Given the description of an element on the screen output the (x, y) to click on. 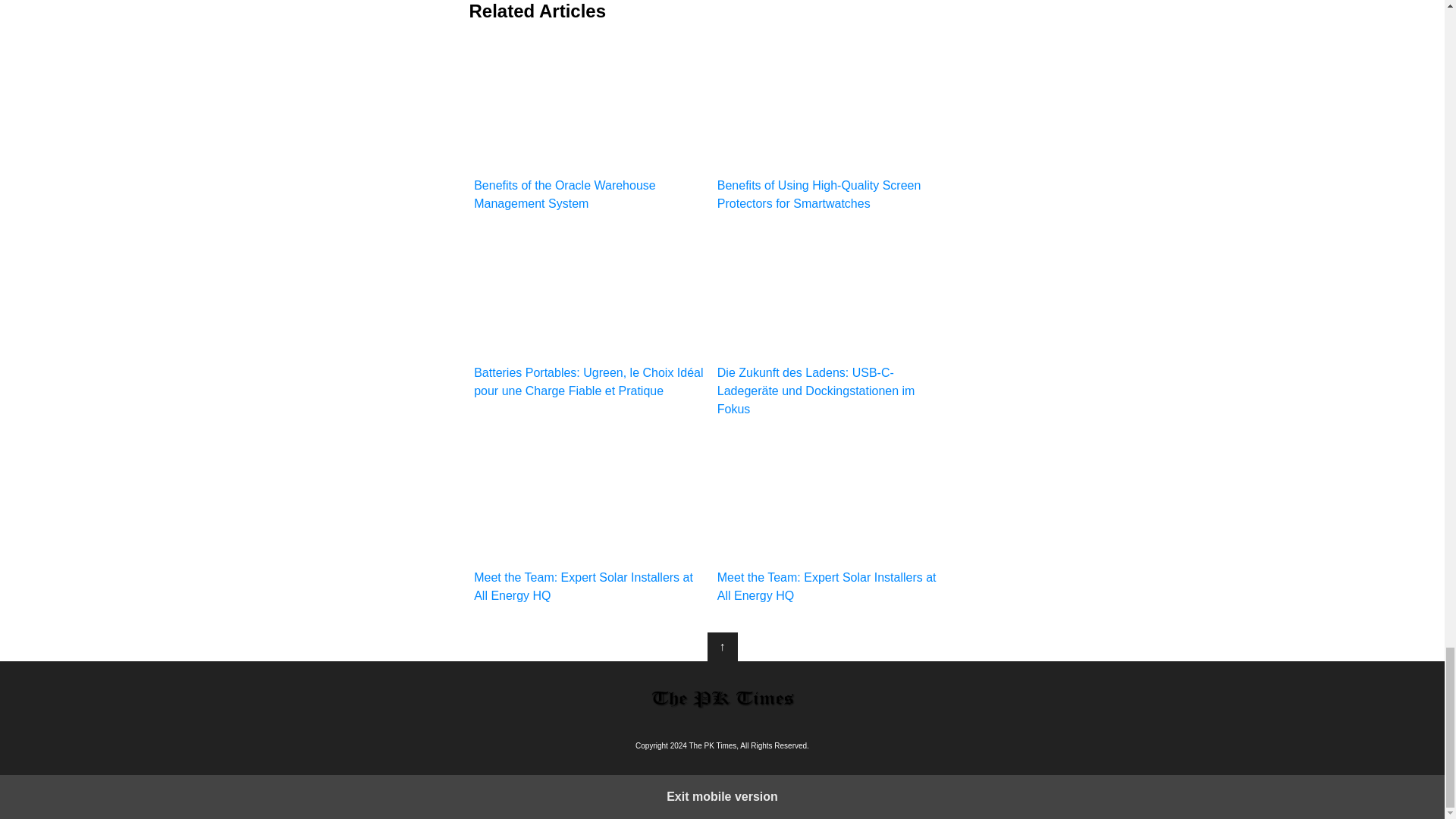
Meet the Team: Expert Solar Installers at All Energy HQ (833, 518)
The PK Times (721, 698)
Meet the Team: Expert Solar Installers at All Energy HQ (590, 518)
Benefits of the Oracle Warehouse Management System (590, 126)
